Given the description of an element on the screen output the (x, y) to click on. 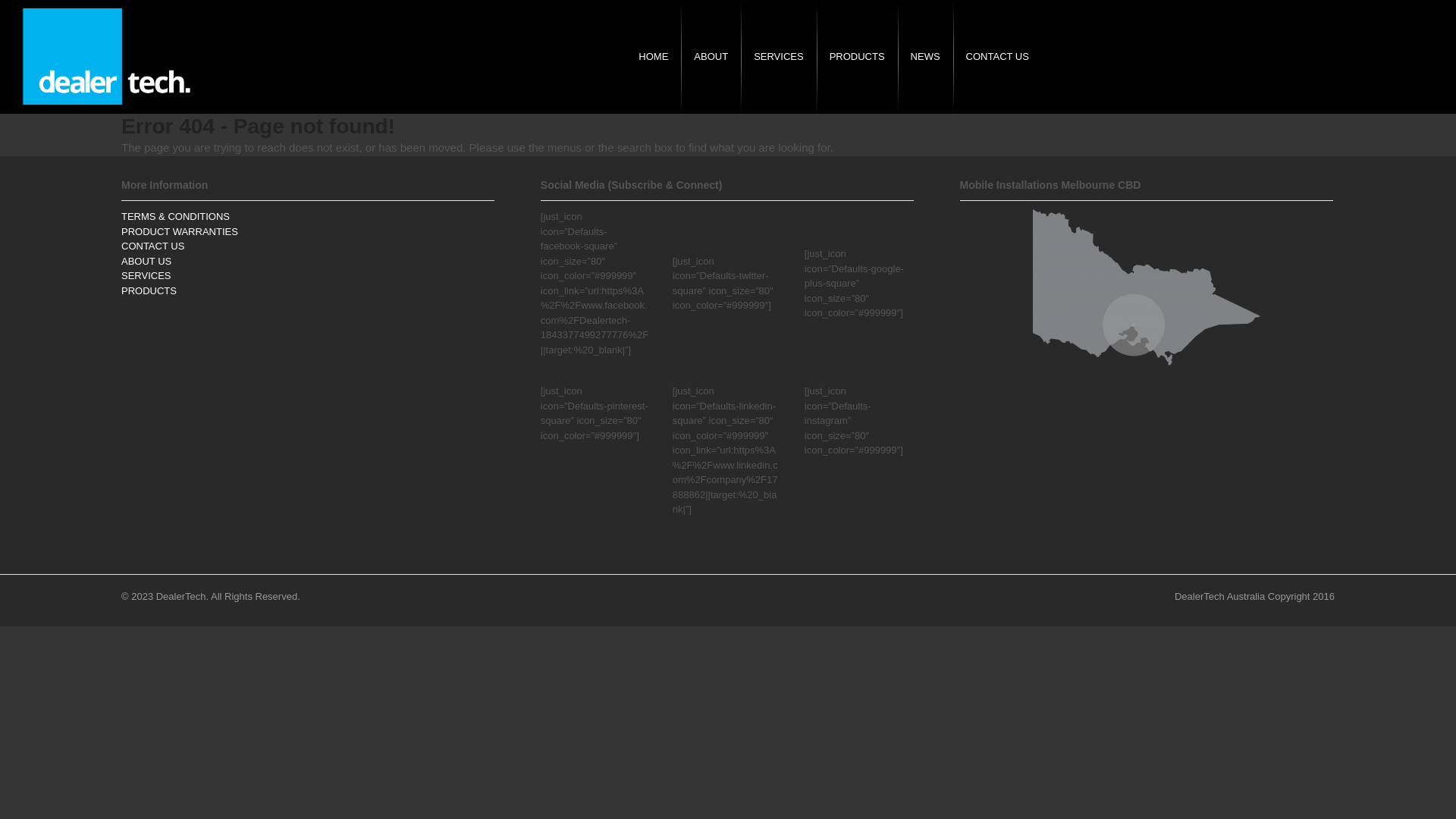
CONTACT US Element type: text (152, 245)
SERVICES Element type: text (146, 275)
ABOUT US Element type: text (146, 260)
ABOUT Element type: text (710, 56)
CONTACT US Element type: text (997, 56)
PRODUCT WARRANTIES Element type: text (179, 231)
NEWS Element type: text (925, 56)
DealerTech Element type: hover (105, 56)
SERVICES Element type: text (778, 56)
PRODUCTS Element type: text (856, 56)
HOME Element type: text (652, 56)
PRODUCTS Element type: text (148, 290)
TERMS & CONDITIONS Element type: text (175, 216)
